Given the description of an element on the screen output the (x, y) to click on. 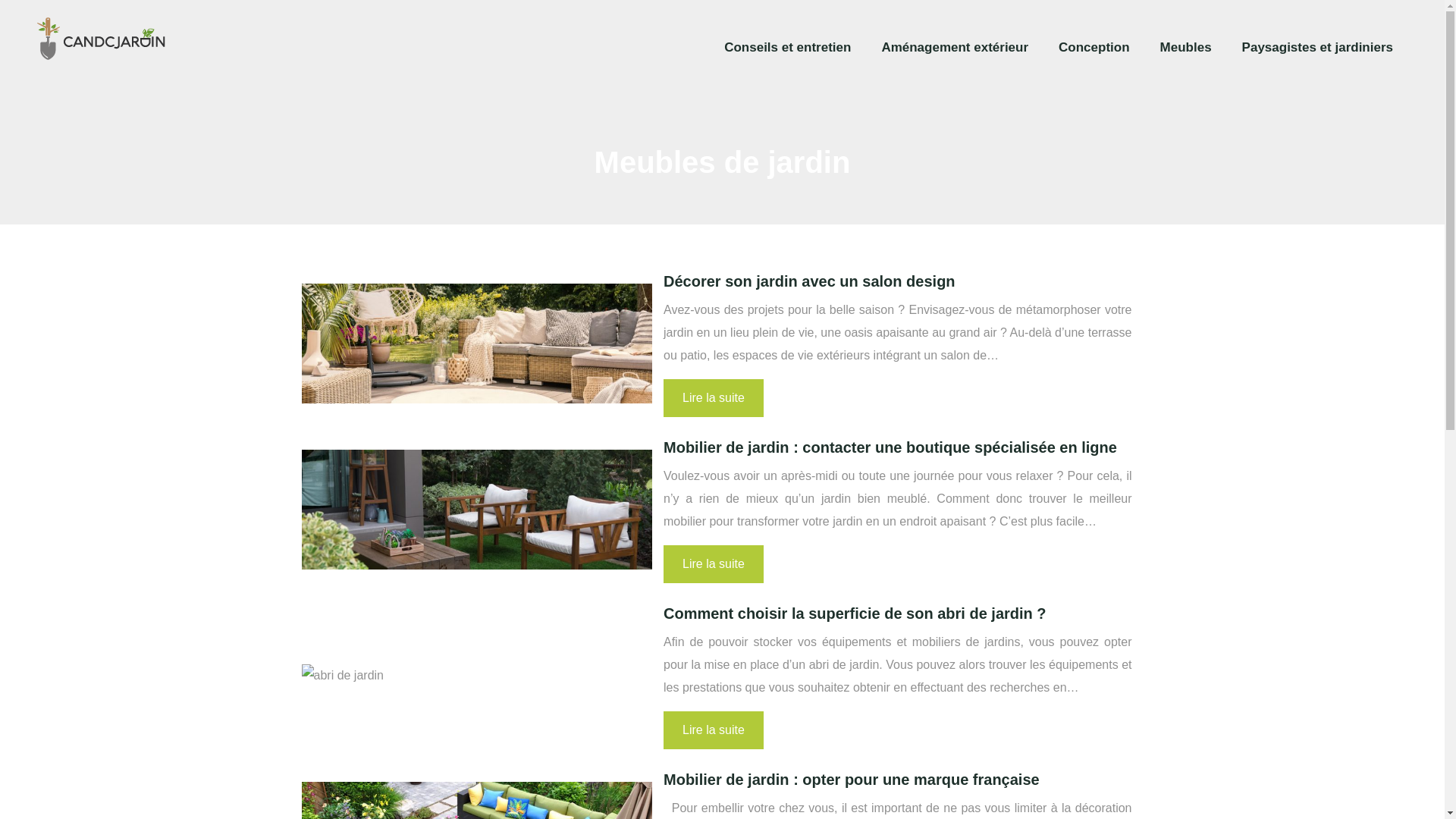
Conseils et entretien Element type: text (787, 47)
Lire la suite Element type: text (713, 398)
Lire la suite Element type: text (713, 730)
Comment choisir la superficie de son abri de jardin ? Element type: text (854, 613)
Conception Element type: text (1093, 47)
Paysagistes et jardiniers Element type: text (1317, 47)
Lire la suite Element type: text (713, 564)
Meubles Element type: text (1185, 47)
